Given the description of an element on the screen output the (x, y) to click on. 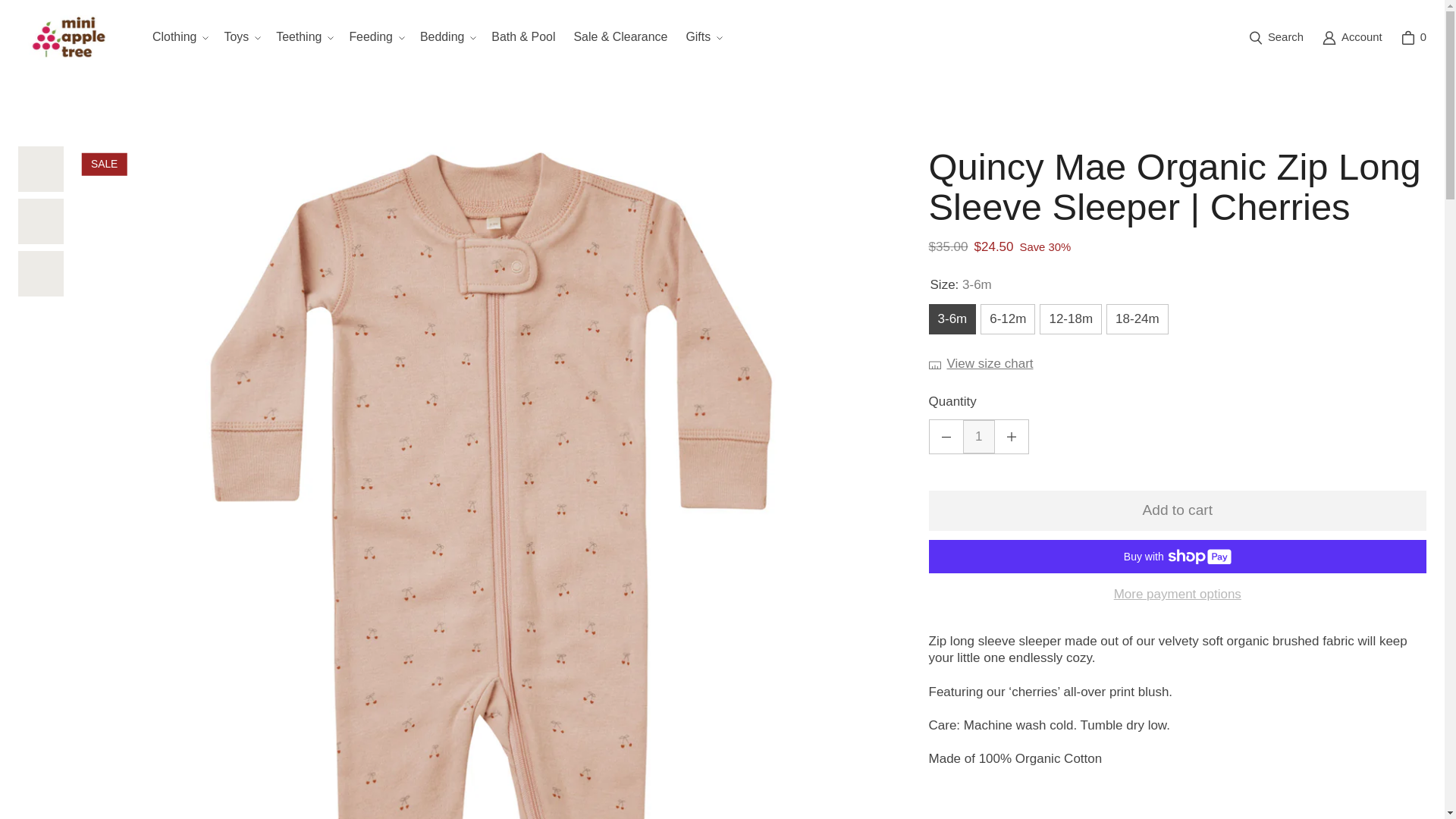
0 (1413, 37)
1 (978, 436)
Account (1352, 37)
Search (1276, 37)
